Given the description of an element on the screen output the (x, y) to click on. 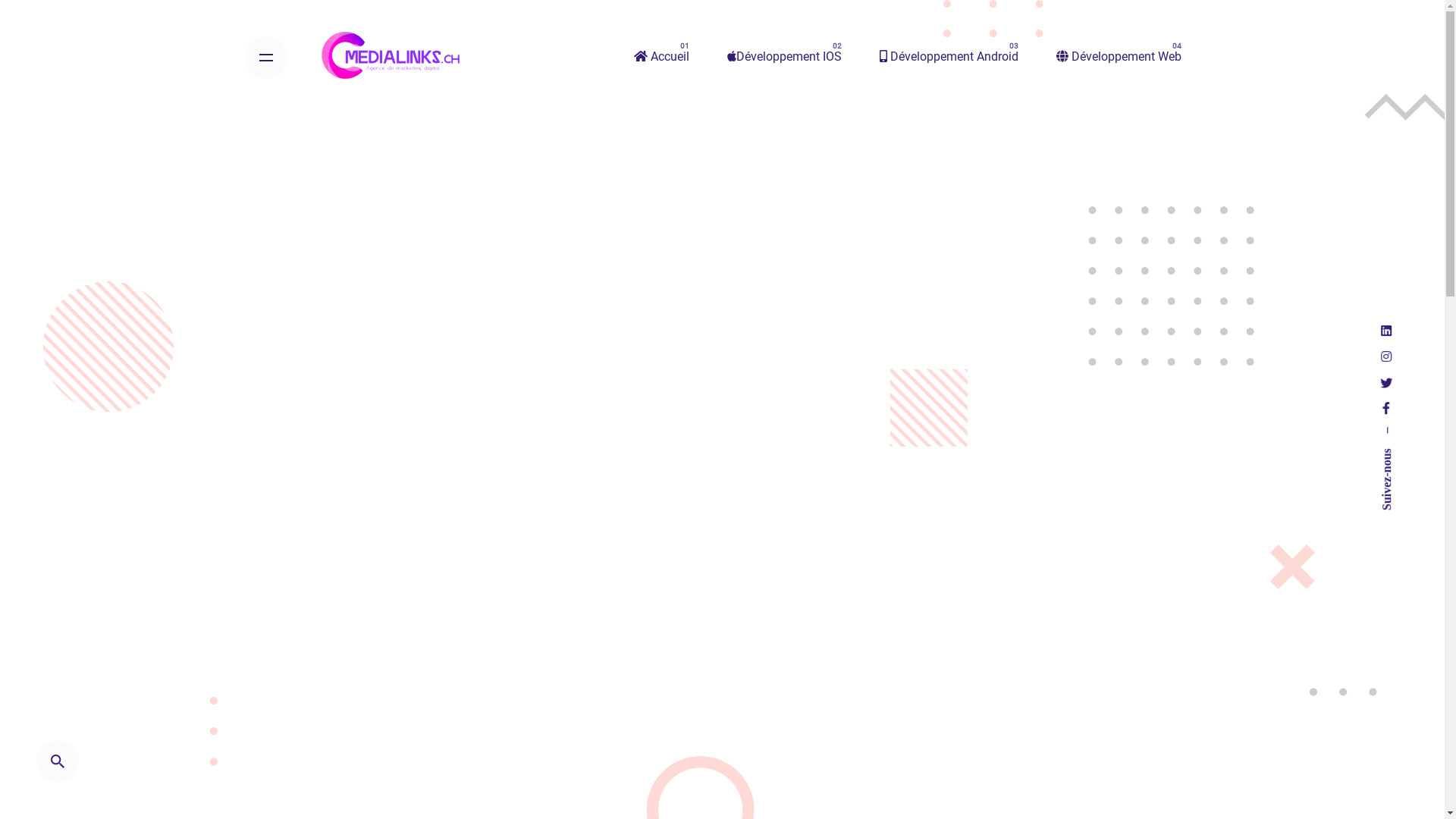
Accueil Element type: text (661, 57)
